Given the description of an element on the screen output the (x, y) to click on. 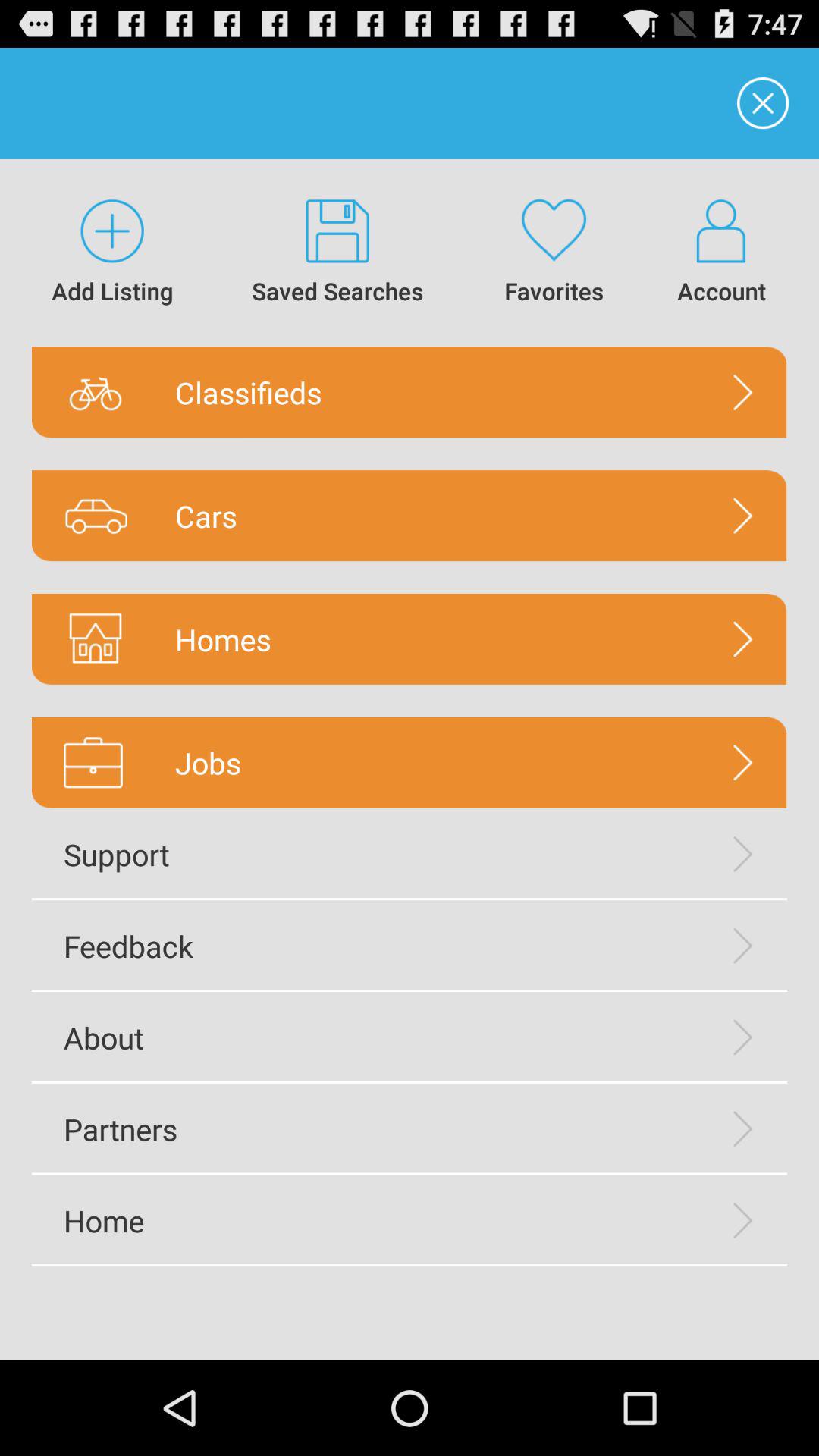
flip until the saved searches (337, 253)
